Given the description of an element on the screen output the (x, y) to click on. 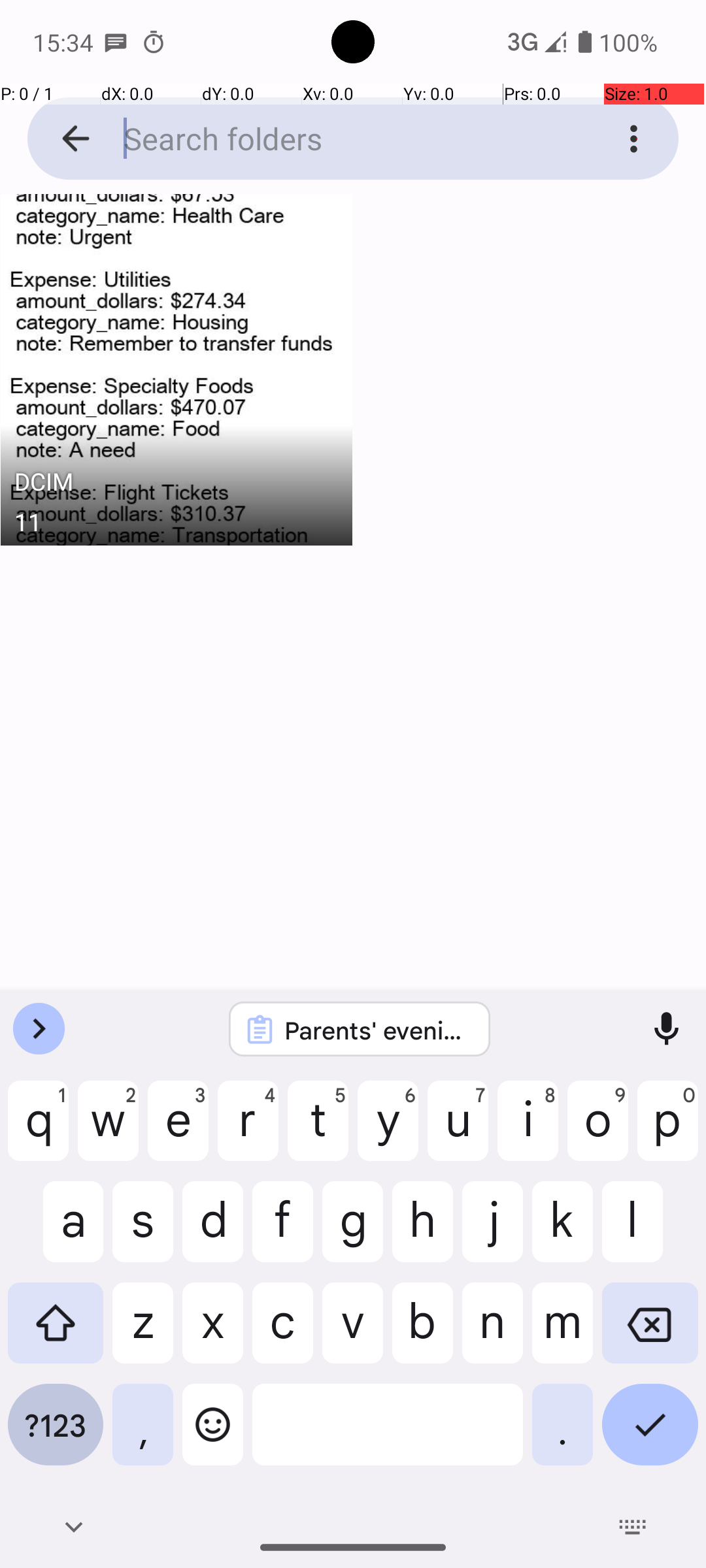
Parents' evening at school this Wednesday. Element type: android.widget.TextView (376, 1029)
